Given the description of an element on the screen output the (x, y) to click on. 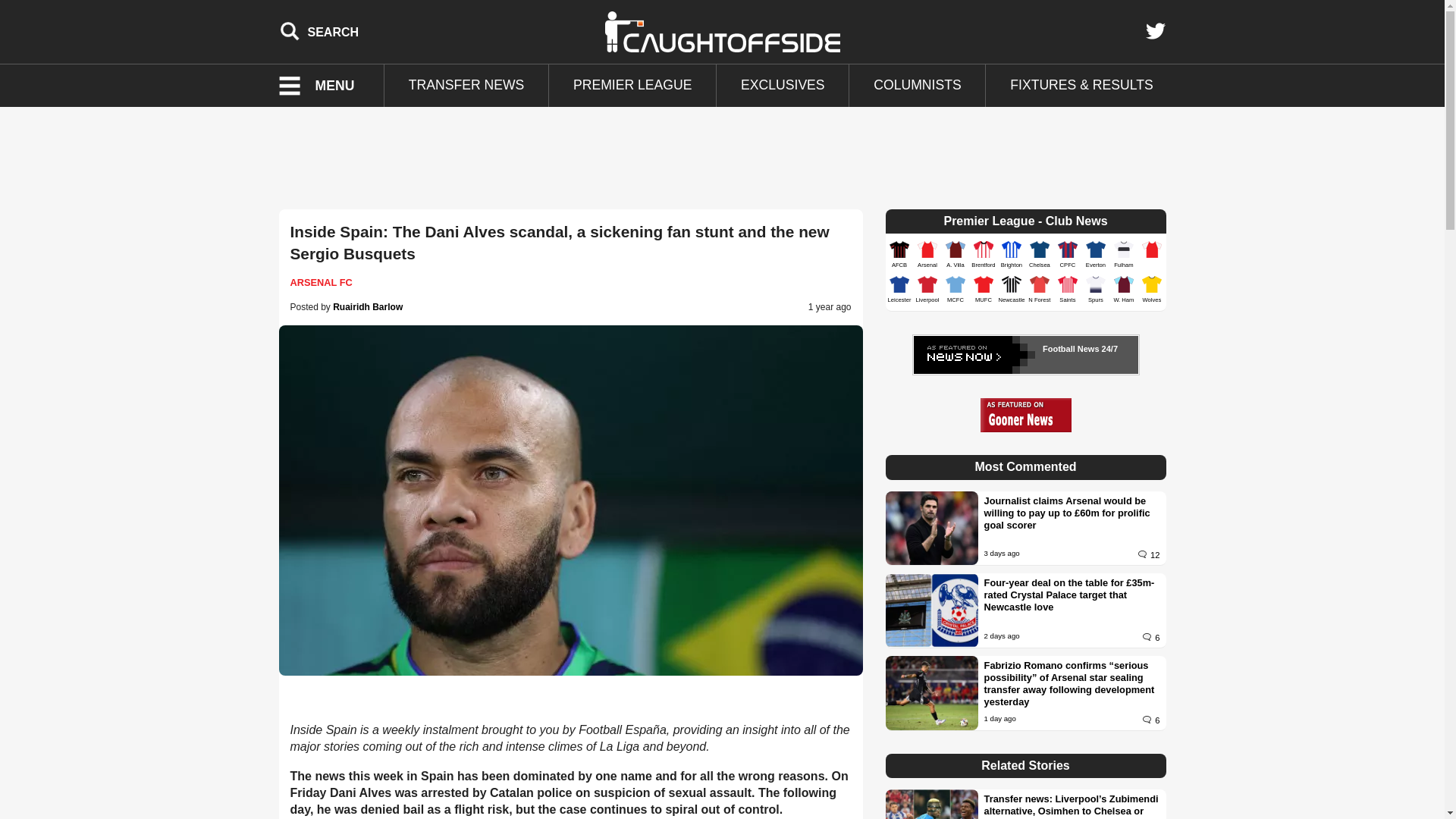
EXCLUSIVES (782, 85)
PREMIER LEAGUE (632, 85)
Search (319, 30)
TRANSFER NEWS (466, 85)
Menu (325, 85)
Twitter (1155, 30)
